Given the description of an element on the screen output the (x, y) to click on. 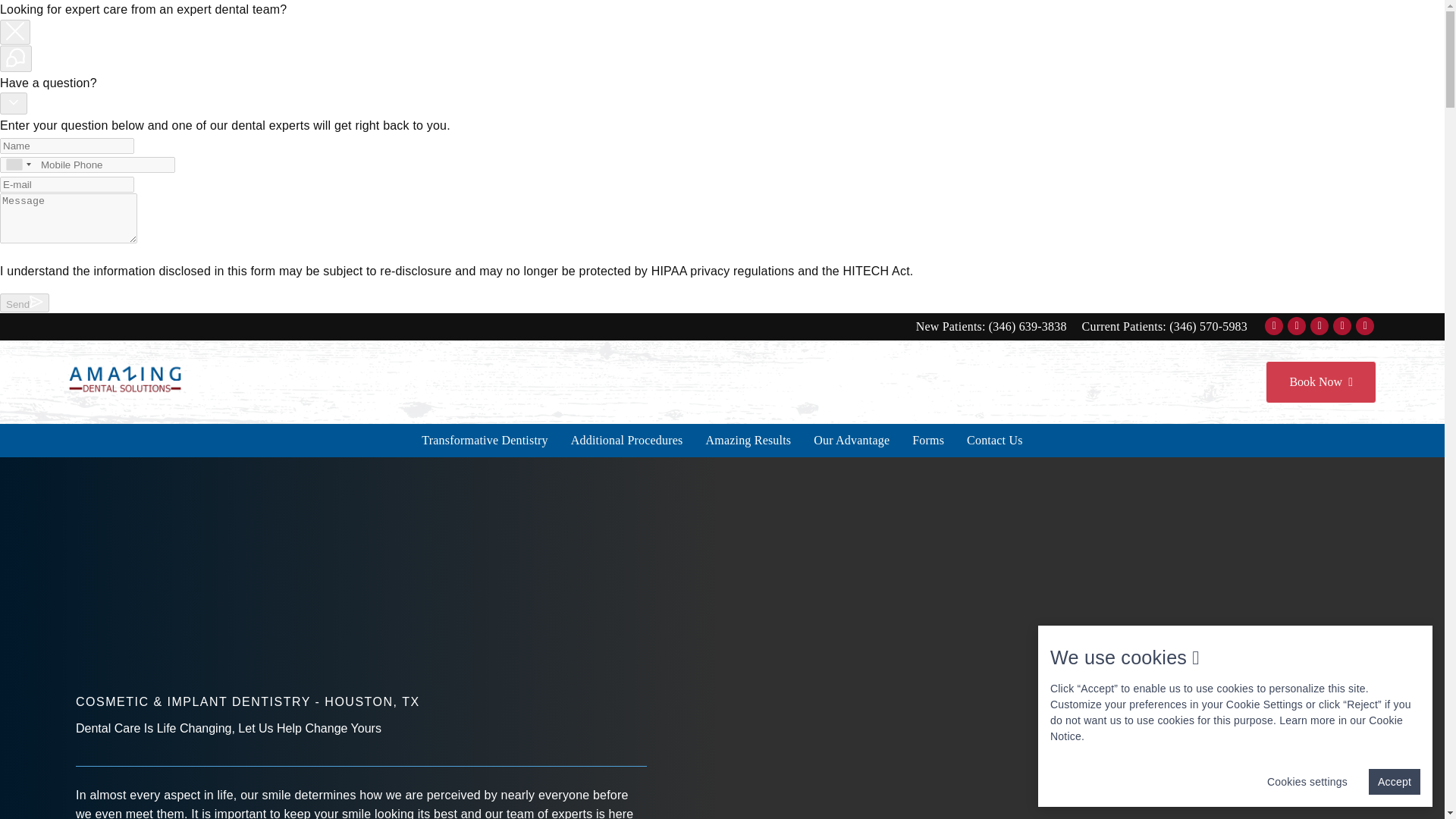
Transformative Dentistry (484, 440)
Our Advantage (851, 440)
Book Now (1320, 382)
Additional Procedures (626, 440)
Amazing Results (748, 440)
